Given the description of an element on the screen output the (x, y) to click on. 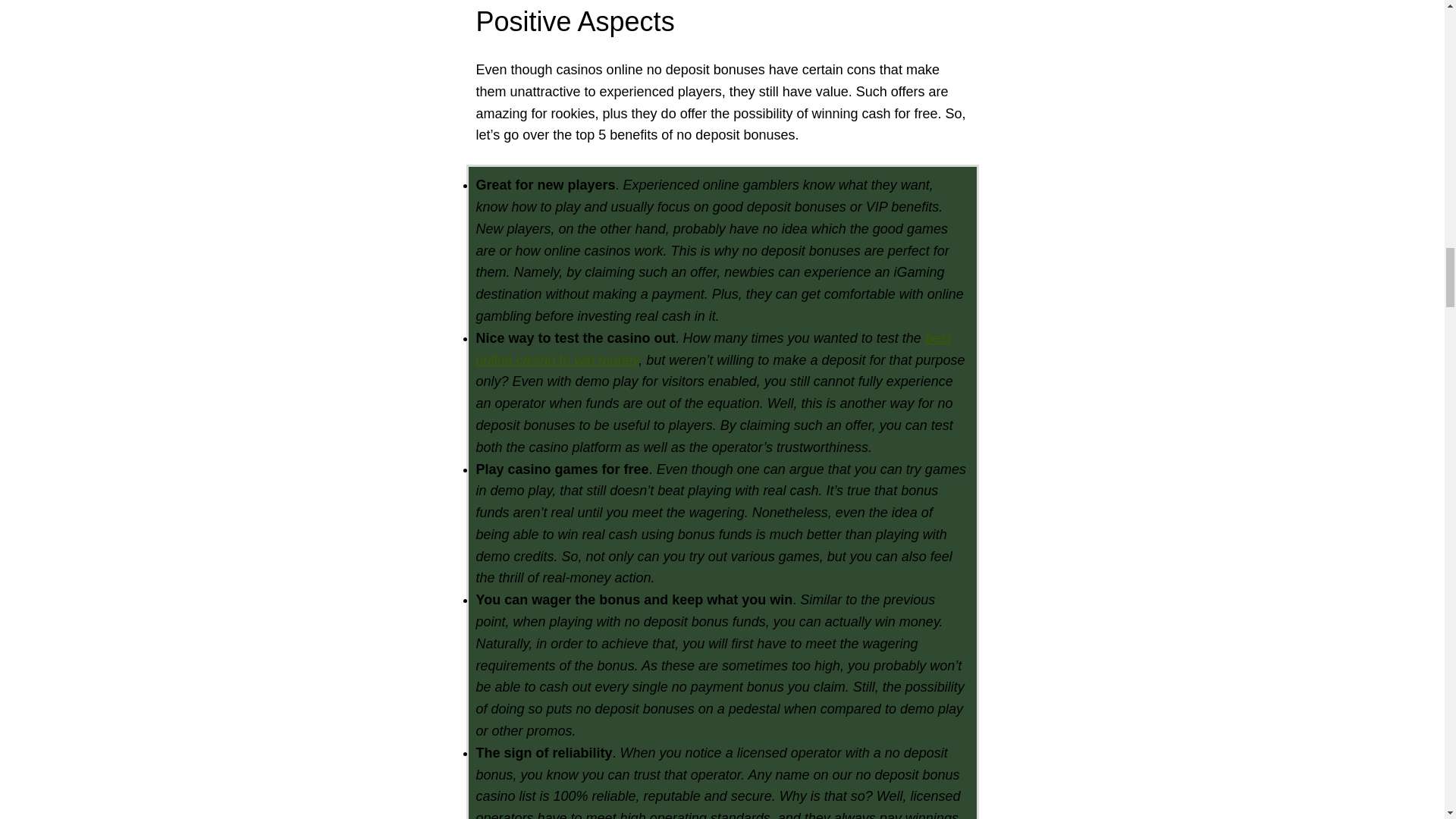
best online casino to win money (713, 348)
